Given the description of an element on the screen output the (x, y) to click on. 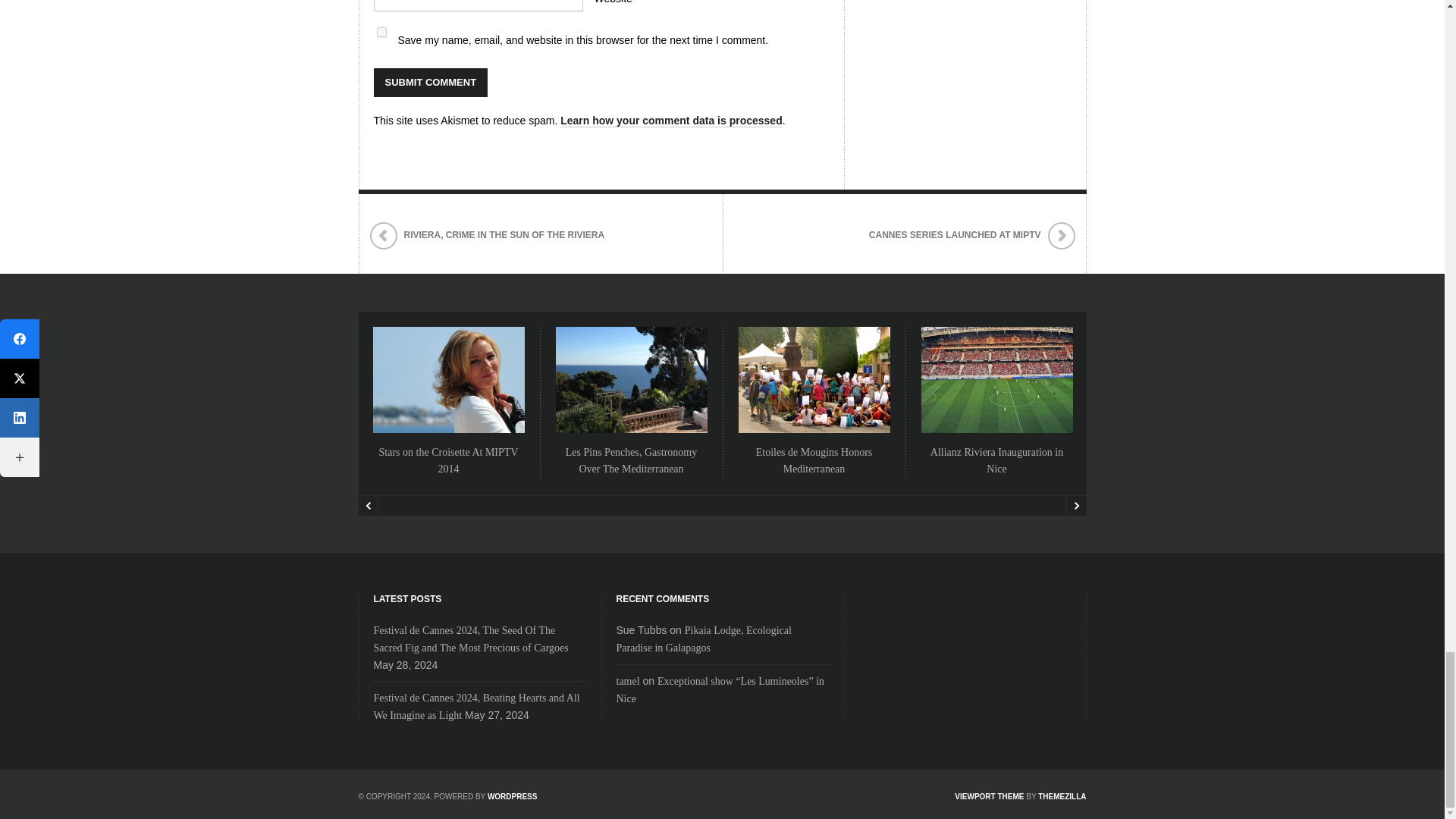
Etoiles de Mougins Honors Mediterranean (813, 460)
Stars on the Croisette At MIPTV 2014 (448, 460)
Submit Comment (429, 82)
Allianz Riviera Inauguration in Nice (996, 460)
Permanent Link to Etoiles de Mougins Honors Mediterranean (813, 460)
Submit Comment (429, 82)
Learn how your comment data is processed (671, 120)
yes (380, 31)
Permanent Link to Stars on the Croisette At MIPTV 2014 (448, 460)
Les Pins Penches, Gastronomy Over The Mediterranean (631, 460)
Permanent Link to Allianz Riviera Inauguration in Nice (996, 460)
